Given the description of an element on the screen output the (x, y) to click on. 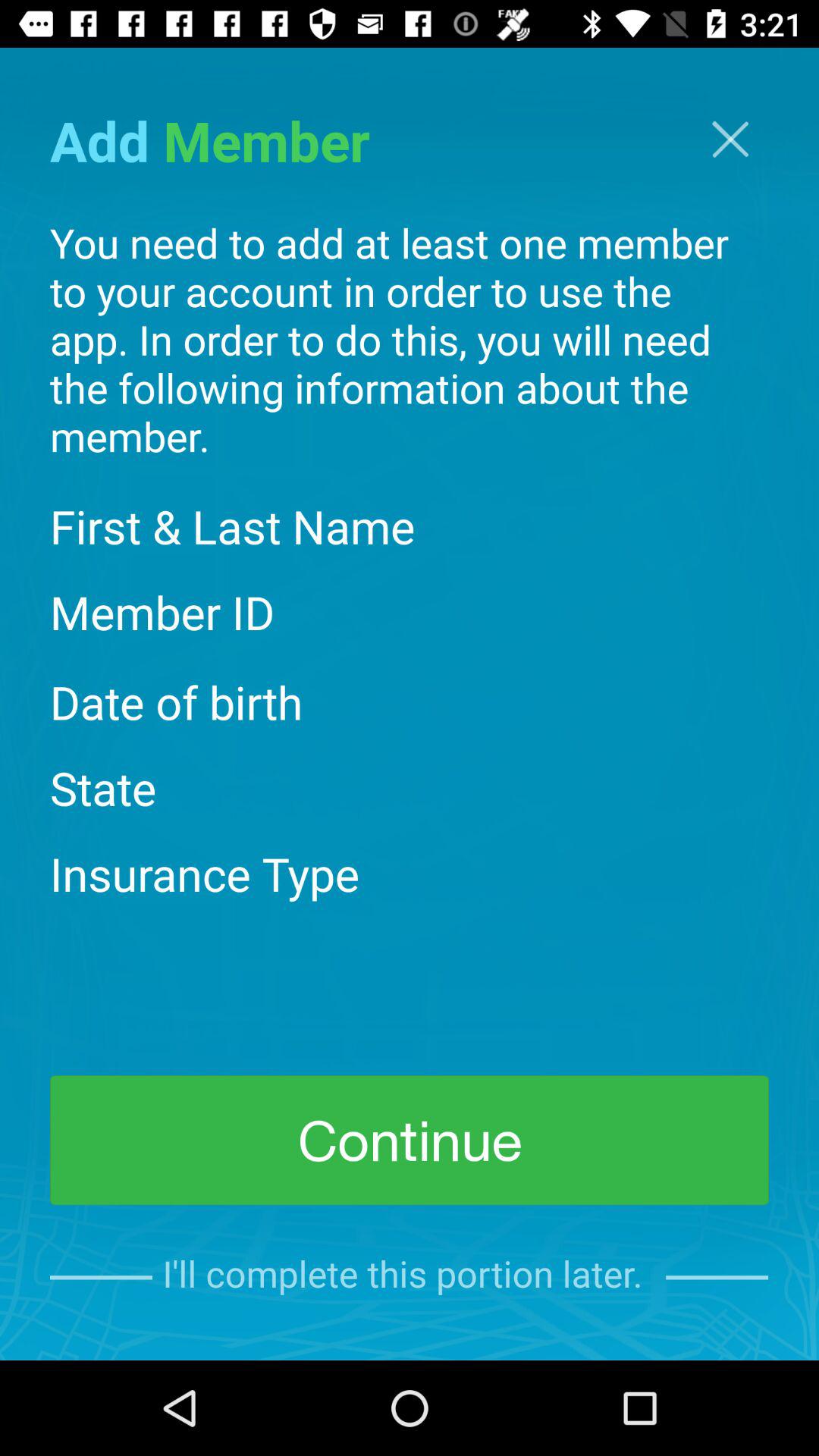
launch the item to the right of the add member icon (730, 139)
